Given the description of an element on the screen output the (x, y) to click on. 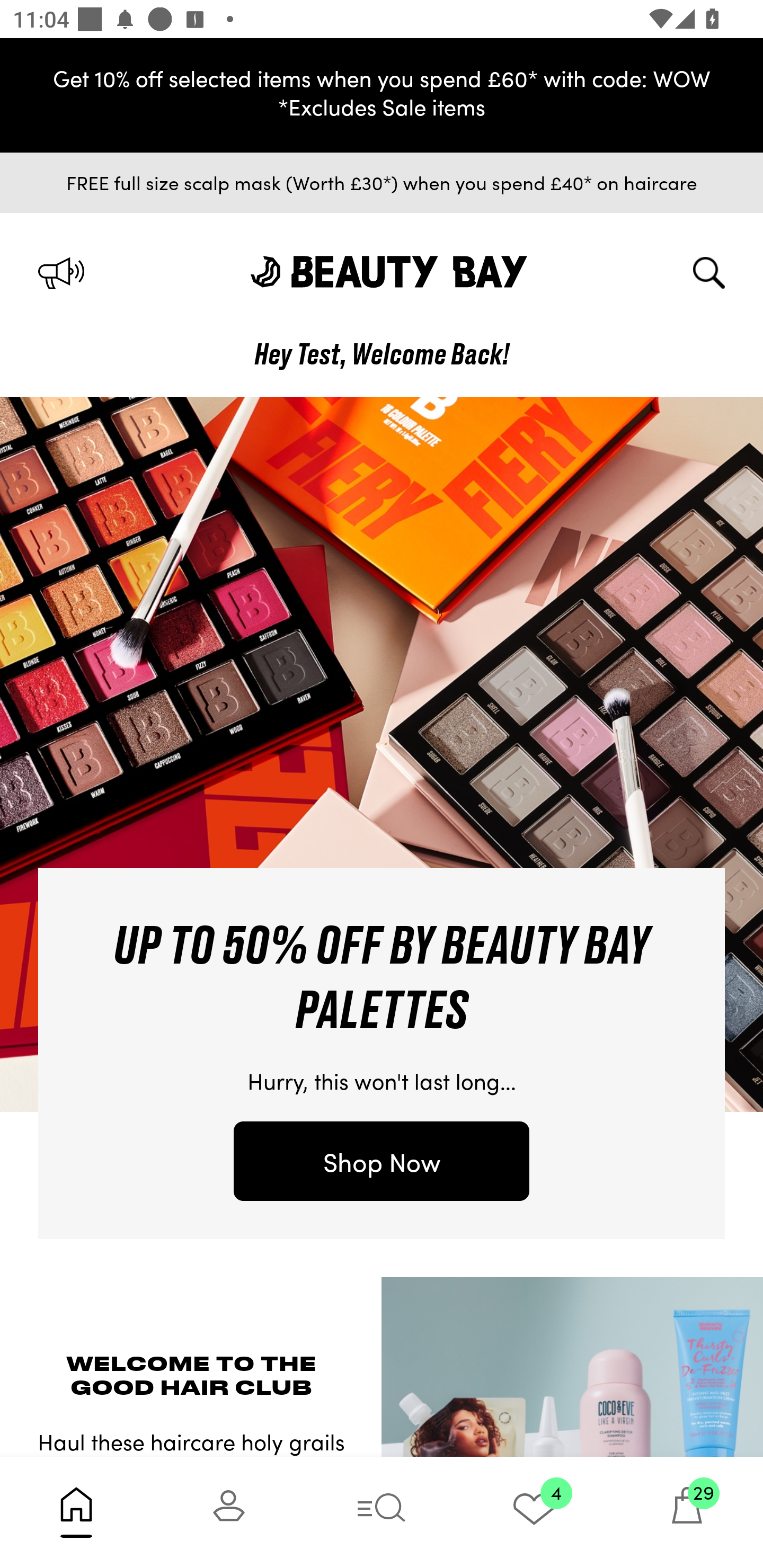
4 (533, 1512)
29 (686, 1512)
